Given the description of an element on the screen output the (x, y) to click on. 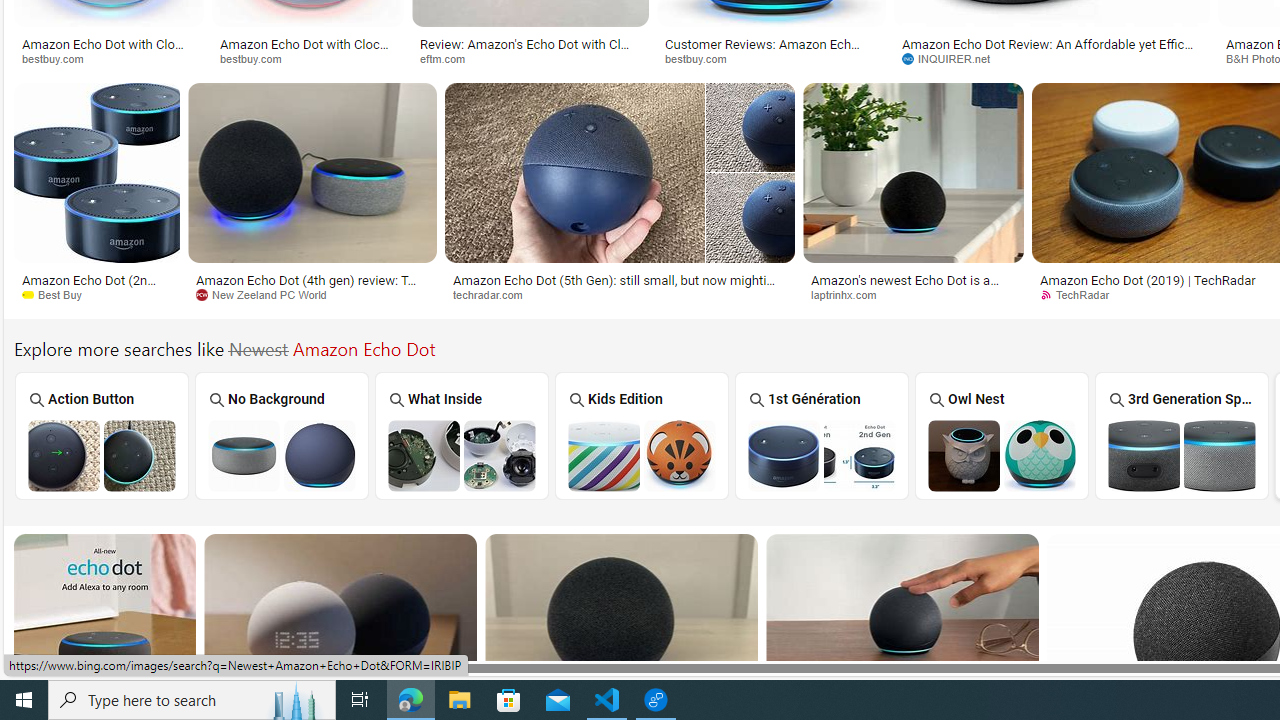
Image result for Newest Amazon Echo Dot (902, 623)
Amazon Echo Dot Action Button Action Button (101, 435)
New Zeeland PC World (267, 294)
Kids Edition (641, 435)
Image result for Newest Amazon Echo Dot (902, 623)
